Given the description of an element on the screen output the (x, y) to click on. 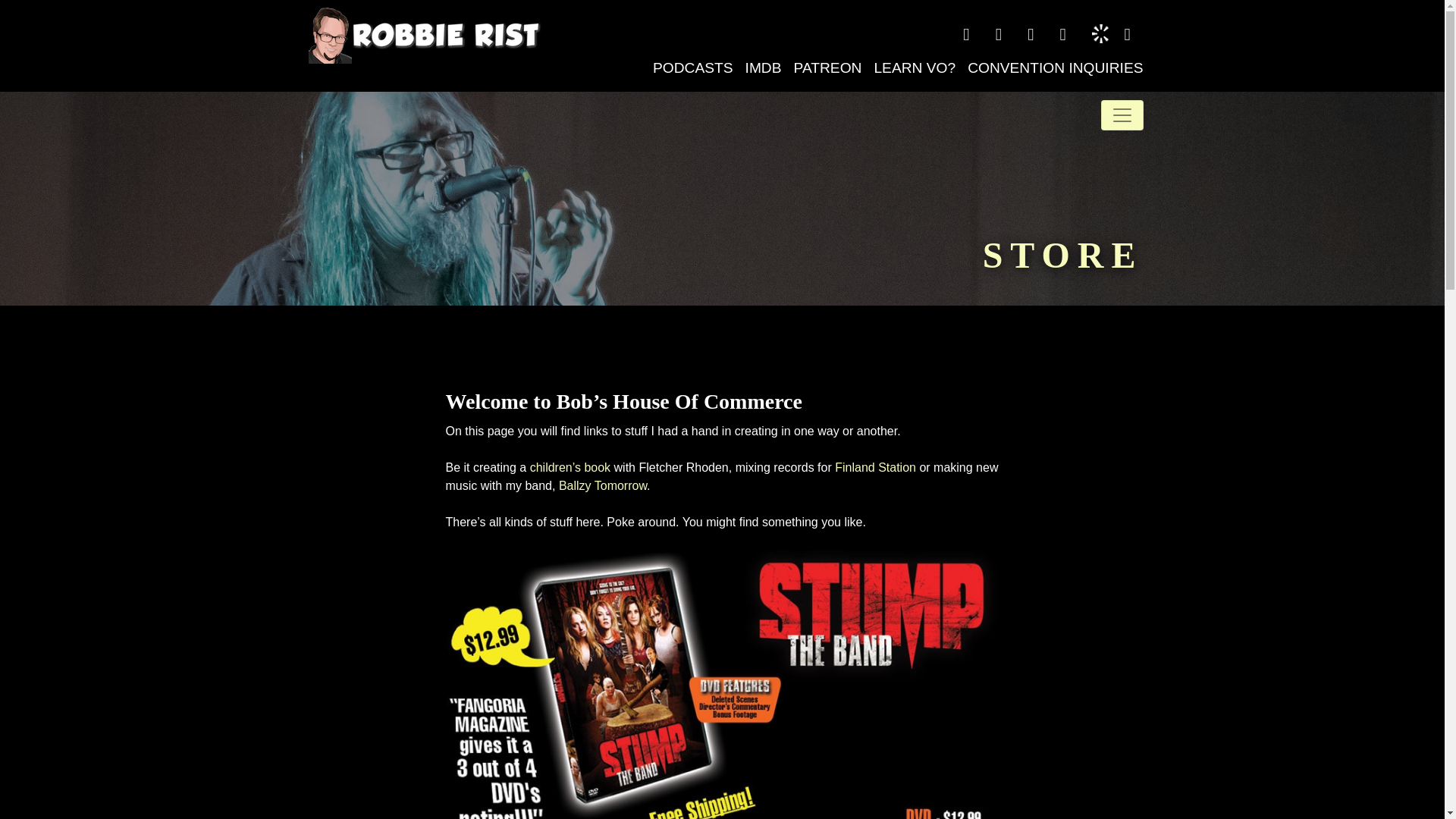
LEARN VO? (913, 68)
CONVENTION INQUIRIES (1051, 68)
Robbie's IMDB page (763, 68)
Learn VO (913, 68)
Convention Inquiries (1051, 68)
Ballzy Tomorrow (602, 485)
PATREON (827, 68)
Finland Station (874, 467)
IMDB (763, 68)
Support me on Patreon (827, 68)
Subscribe to Robbie's podcasts (692, 68)
PODCASTS (692, 68)
